Given the description of an element on the screen output the (x, y) to click on. 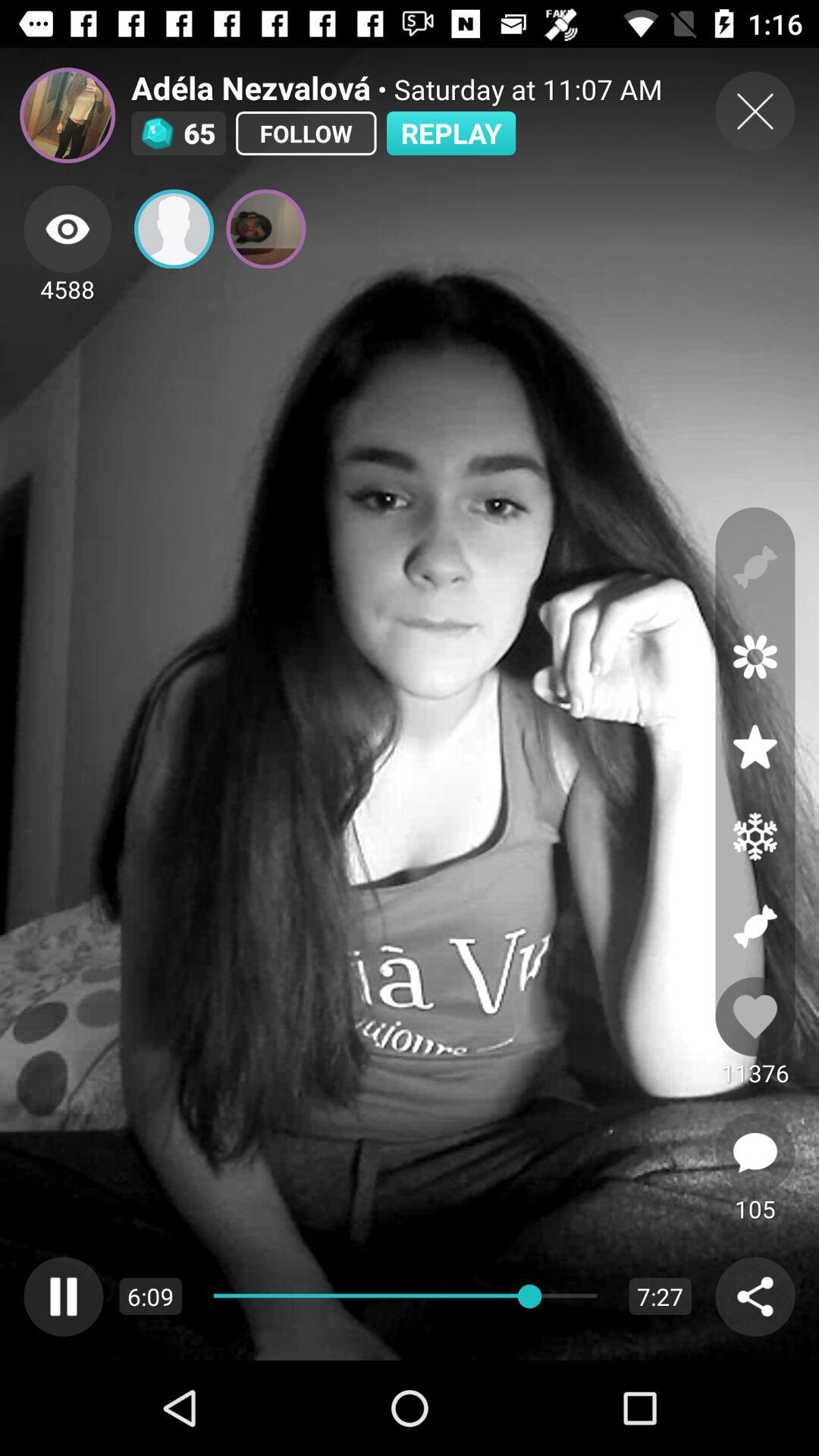
love (755, 1016)
